Given the description of an element on the screen output the (x, y) to click on. 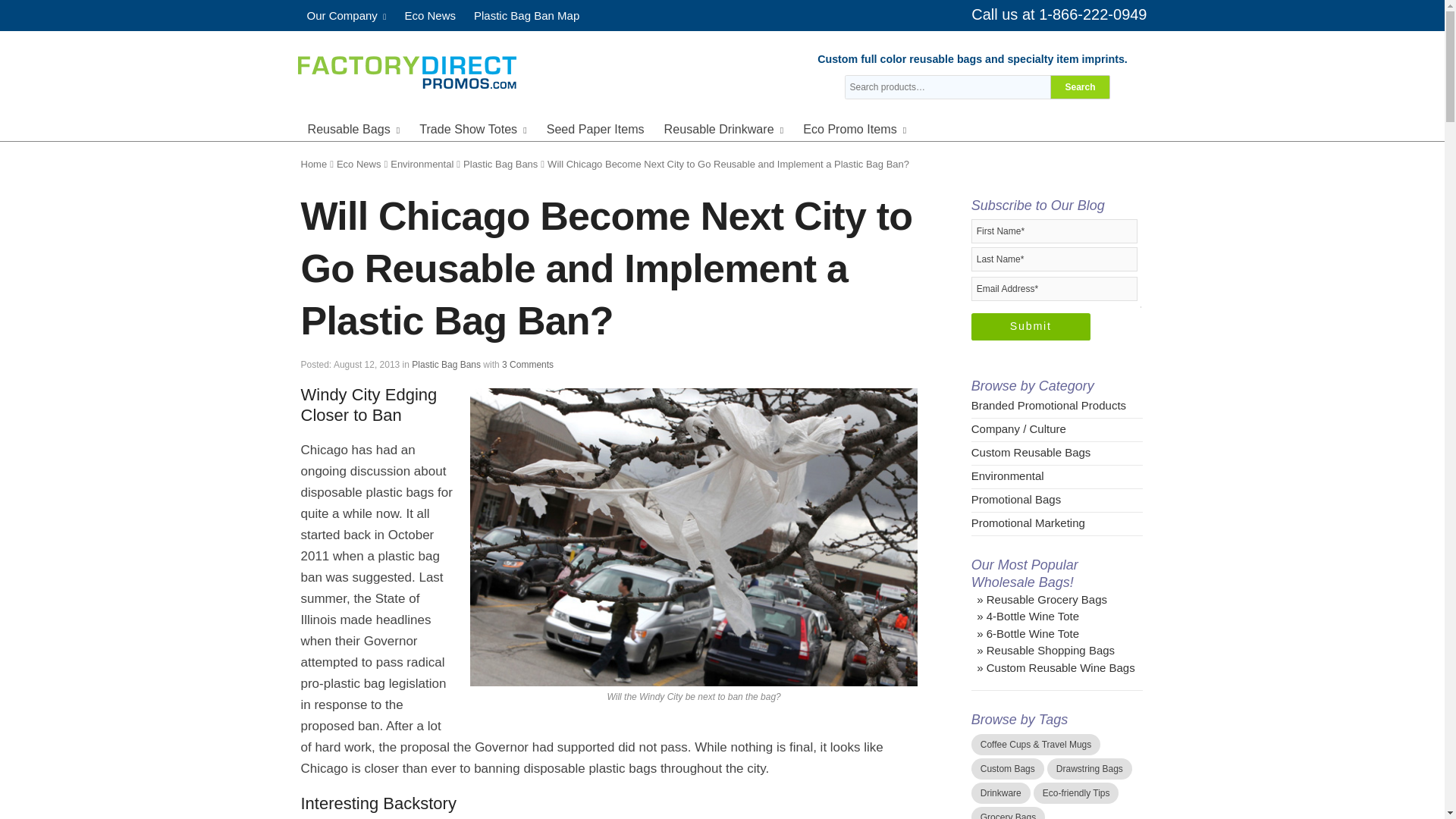
Eco News (429, 15)
Home (312, 163)
Seed Paper Items (595, 127)
Reusable Bags (353, 127)
Trade Show Totes (472, 127)
Search (1079, 87)
Eco Promo Items (854, 127)
Submit (1030, 326)
Reusable Drinkware (724, 127)
Our Company (345, 15)
